Given the description of an element on the screen output the (x, y) to click on. 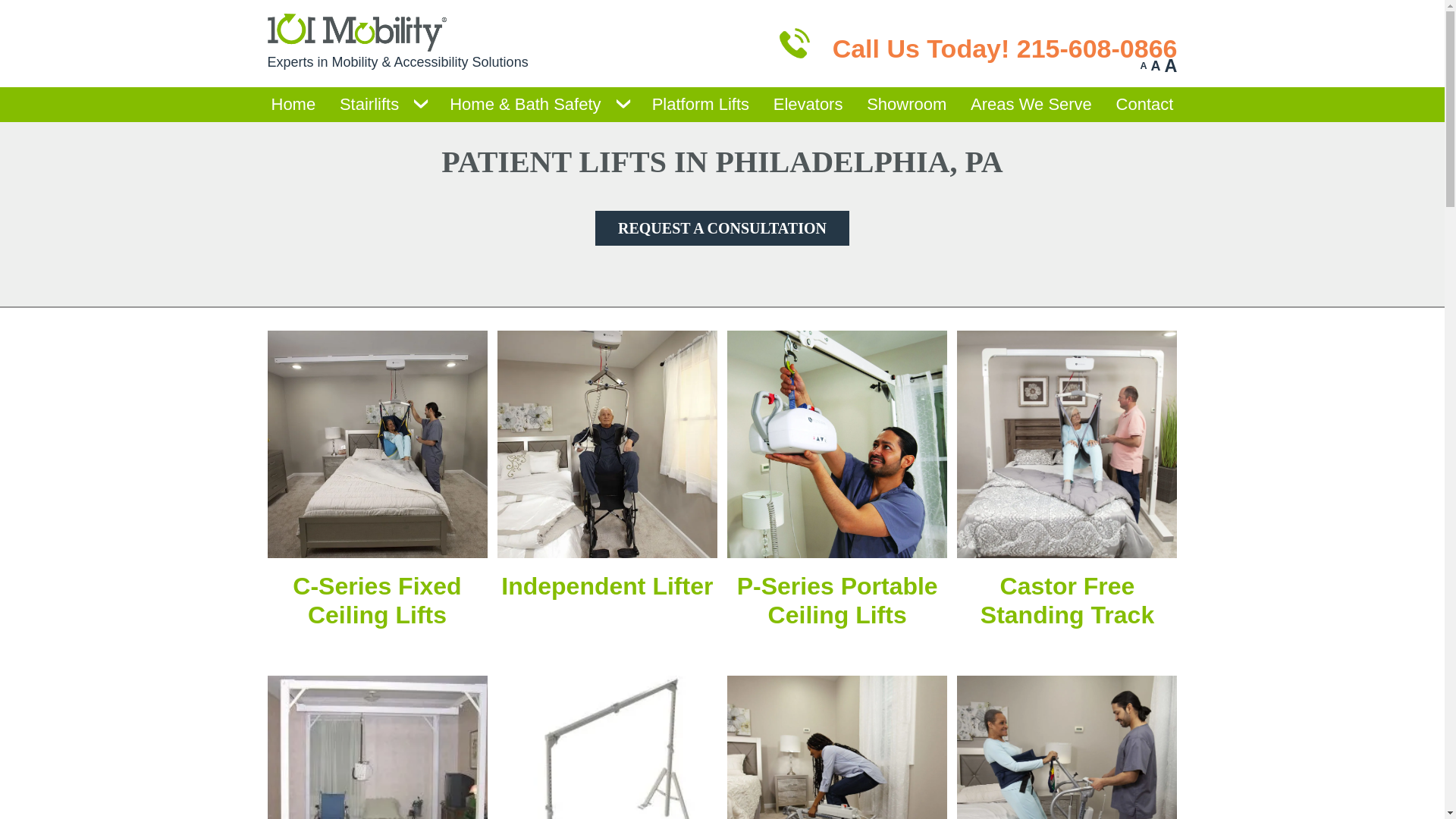
Increase font size (1170, 66)
A (1143, 66)
A (1170, 66)
215-608-0866 (1096, 47)
Decrease font size (1143, 66)
Reset font size (1155, 66)
Contact (1144, 104)
Home (292, 104)
Platform Lifts (699, 104)
Showroom (906, 104)
Areas We Serve (1031, 104)
Stairlifts (369, 104)
Elevators (808, 104)
A (1155, 66)
